Given the description of an element on the screen output the (x, y) to click on. 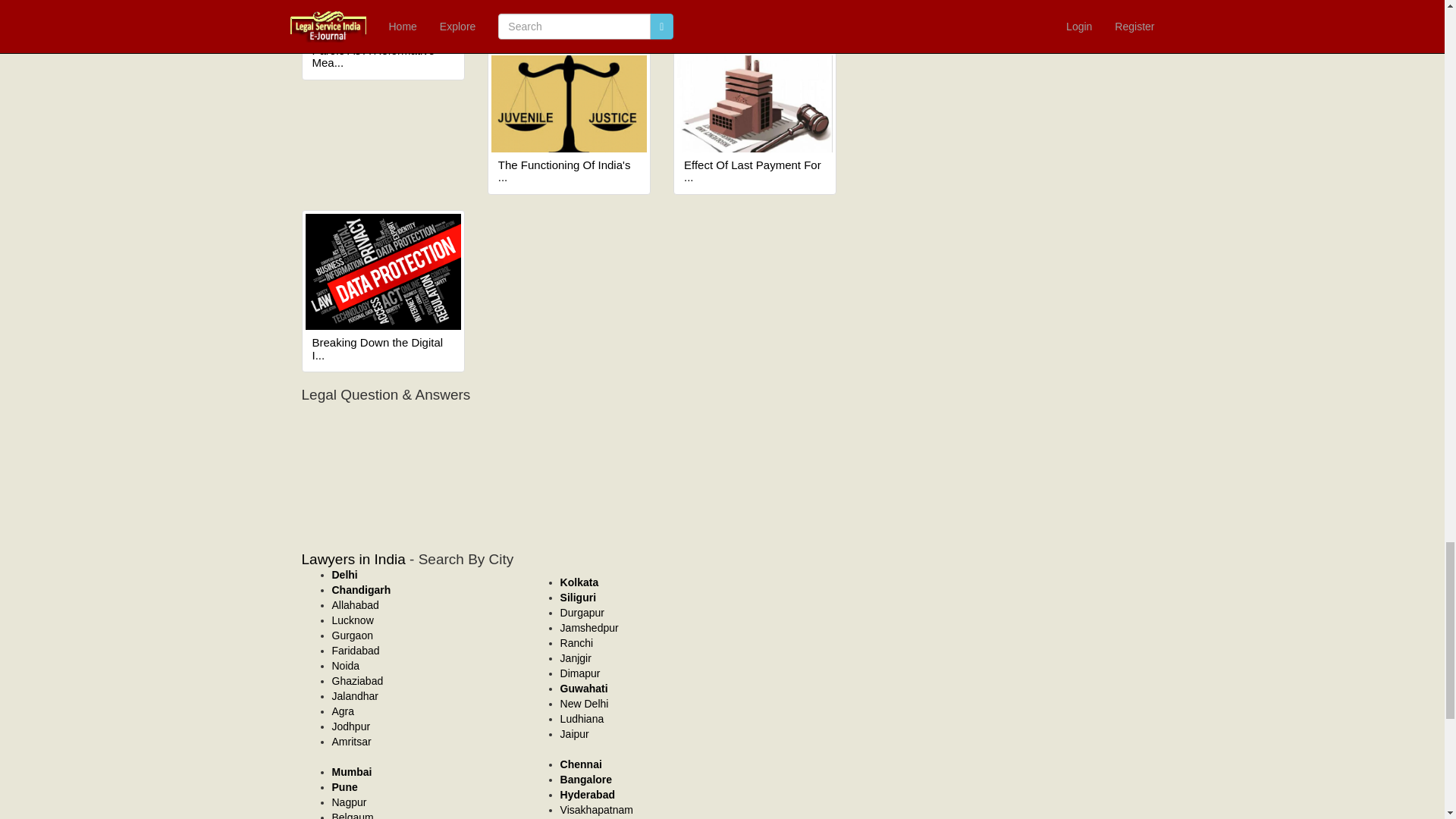
lawyers in Nagpur (348, 802)
Pune (344, 787)
Effect Of Last Payment For ... (754, 171)
fw-iframe (586, 459)
Lawyers in Noida (345, 665)
lawyers in Pune (344, 787)
Lawyers in India (353, 559)
Lawyers in Ghaziabad (357, 680)
Lawyers in Belgaum (352, 815)
Breaking Down the Digital I... (383, 348)
